Given the description of an element on the screen output the (x, y) to click on. 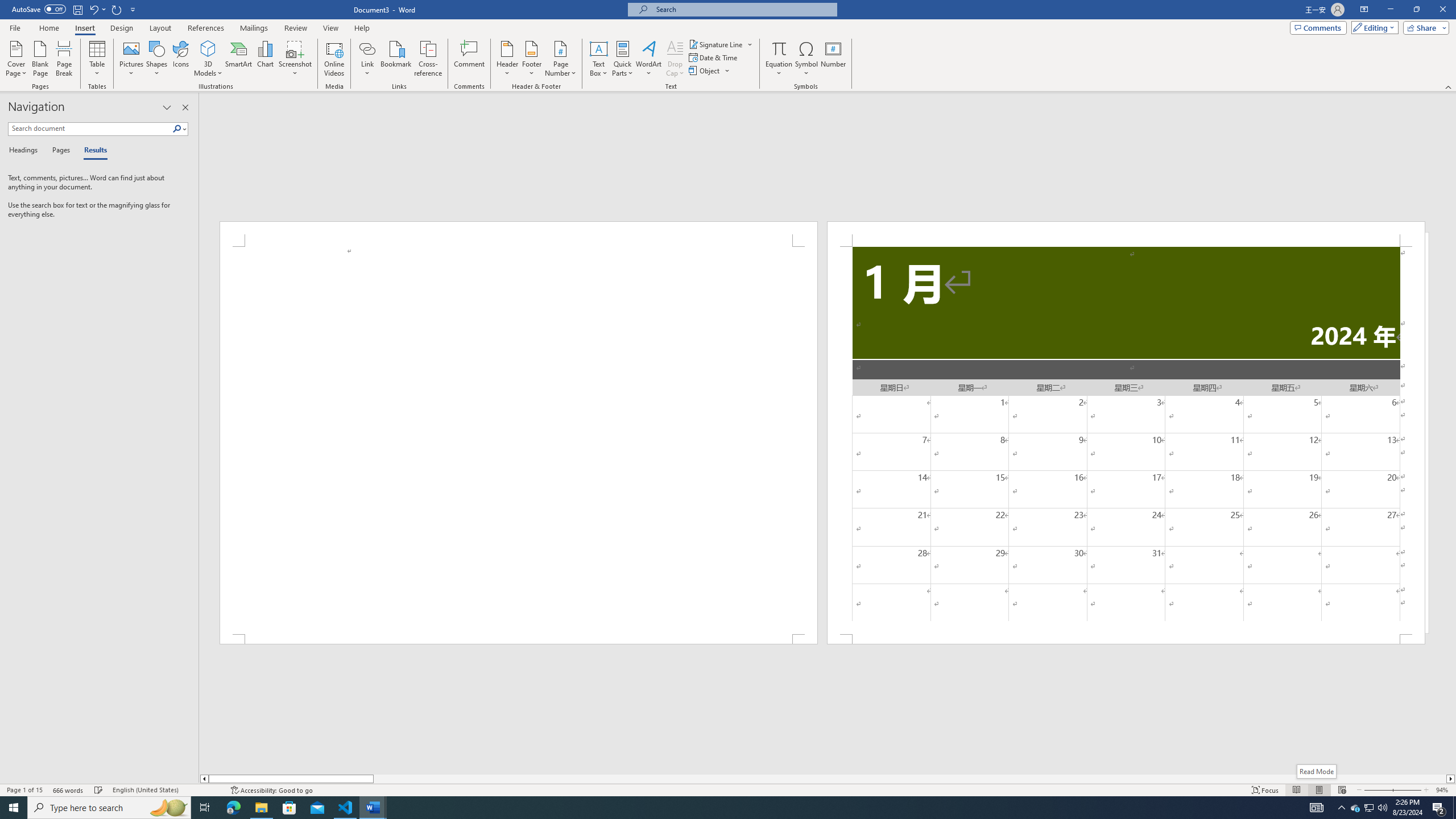
Design (122, 28)
Object... (705, 69)
Text Box (598, 58)
Web Layout (1342, 790)
Collapse the Ribbon (1448, 86)
Mode (1372, 27)
Ribbon Display Options (1364, 9)
Restore Down (1416, 9)
Undo New Page (96, 9)
Date & Time... (714, 56)
Accessibility Checker Accessibility: Good to go (271, 790)
Header (507, 58)
Save (77, 9)
View (330, 28)
